Given the description of an element on the screen output the (x, y) to click on. 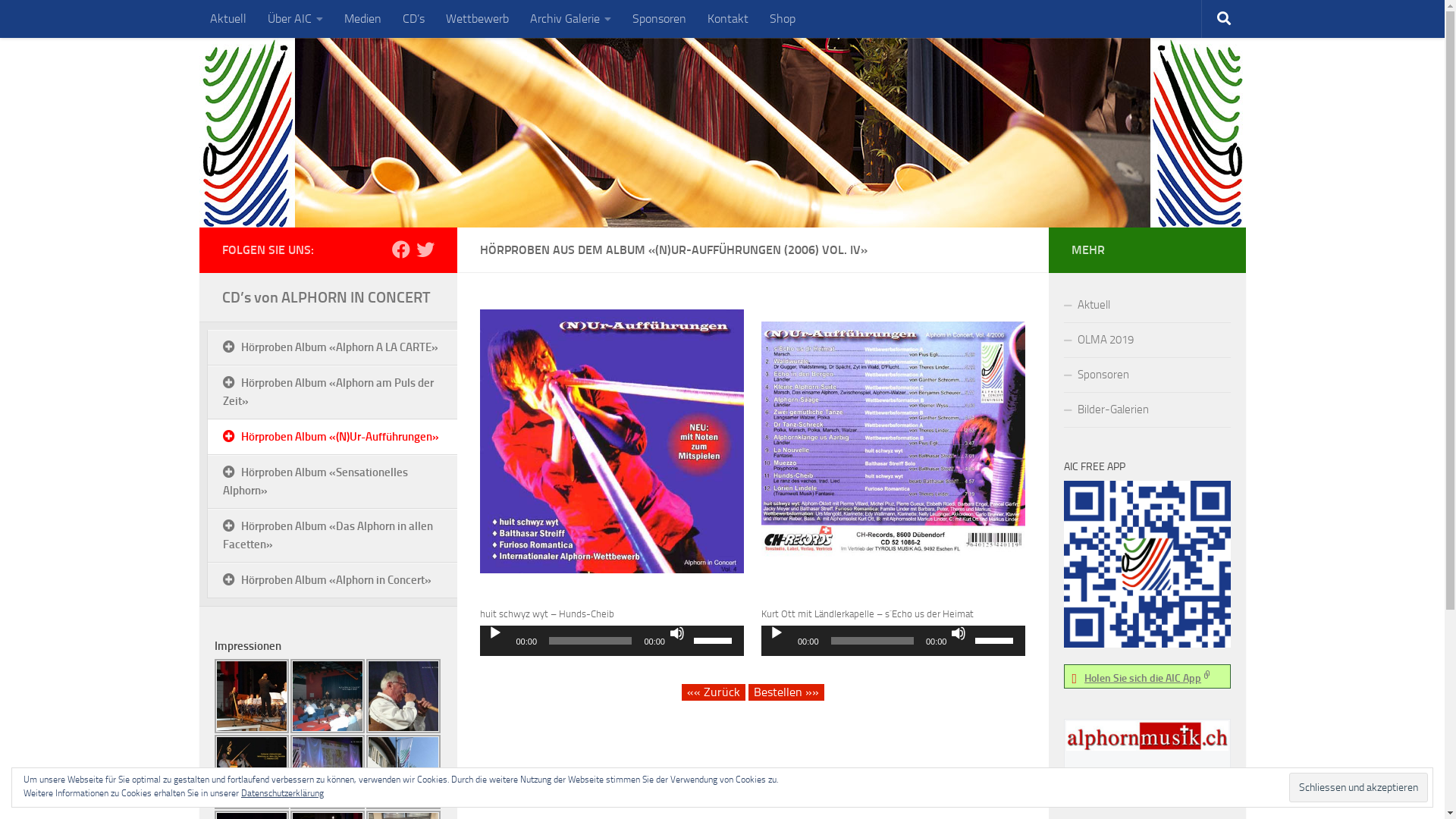
Bilder-Galerien Element type: text (1146, 409)
Sponsoren Element type: text (1146, 374)
Sponsoren Element type: text (658, 18)
Alphorn in Concert 2008 Element type: hover (402, 695)
Folgen Sie uns auf Twitter Element type: hover (424, 249)
Schliessen und akzeptieren Element type: text (1358, 787)
Stumm Element type: hover (676, 632)
Stumm Element type: hover (958, 632)
Alphorn in Concert 2002 Element type: hover (250, 771)
Abspielen Element type: hover (494, 632)
OLMA 2019 Element type: text (1146, 340)
Aktuell Element type: text (1146, 305)
Archiv Galerie Element type: text (569, 18)
Alphorn in Concert Free APP Element type: hover (1146, 563)
Wettbewerb Element type: text (477, 18)
Aktuell Element type: text (227, 18)
Folgen Sie uns auf Facebook Element type: hover (400, 249)
Alphorn in Concert 2003 Element type: hover (402, 771)
www.alphornmusik.ch Element type: text (1146, 776)
Alphorn in Concert 2004 Element type: hover (326, 695)
Alphorn in Concert 2004 Element type: hover (250, 695)
Kontakt Element type: text (727, 18)
Shop Element type: text (781, 18)
Abspielen Element type: hover (776, 632)
Alphorn in Concert 2008 Element type: hover (326, 771)
Holen Sie sich die AIC App Element type: text (1148, 677)
Medien Element type: text (362, 18)
